Given the description of an element on the screen output the (x, y) to click on. 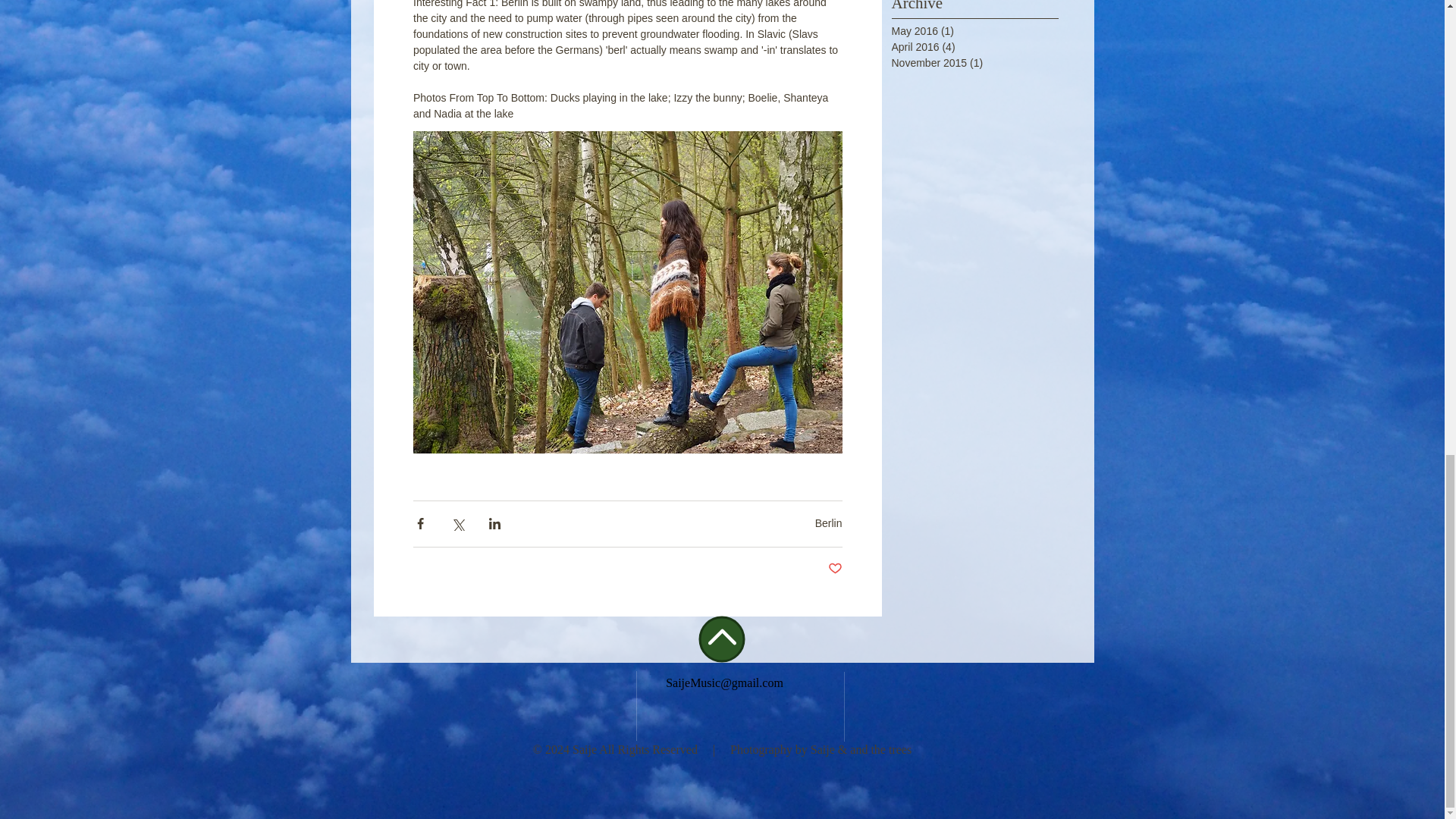
Berlin (829, 522)
Post not marked as liked (835, 569)
